Given the description of an element on the screen output the (x, y) to click on. 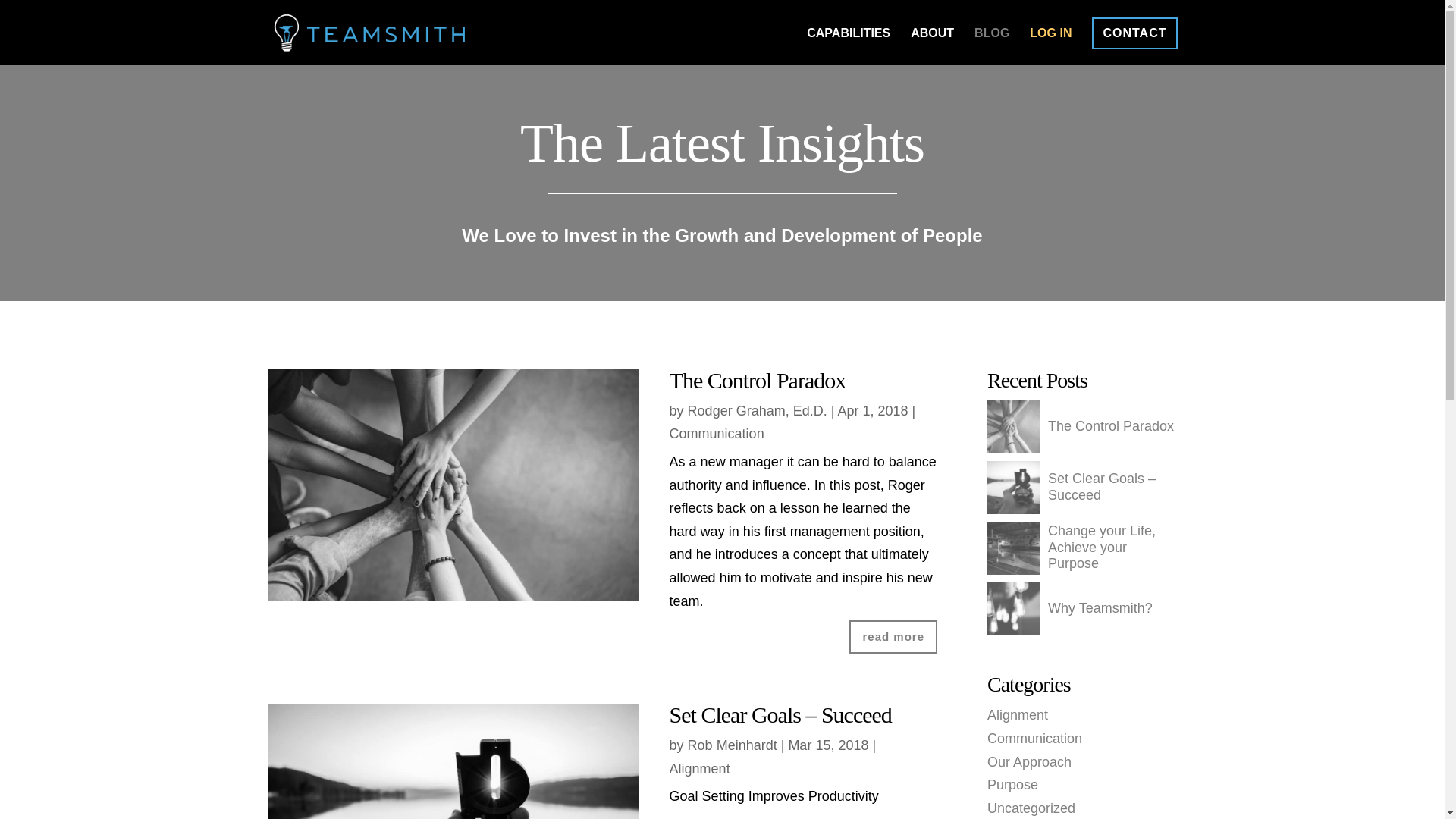
Uncategorized (1031, 807)
Posts by Rob Meinhardt (732, 744)
Rodger Graham, Ed.D. (757, 410)
CAPABILITIES (847, 46)
BLOG (991, 46)
CONTACT (1134, 33)
The Control Paradox (1080, 426)
Rob Meinhardt (732, 744)
Why Teamsmith? (1070, 608)
LOG IN (1050, 46)
Alignment (1017, 714)
Posts by Rodger Graham, Ed.D. (757, 410)
Change your Life, Achieve your Purpose (1082, 547)
Communication (716, 433)
read more (892, 636)
